Given the description of an element on the screen output the (x, y) to click on. 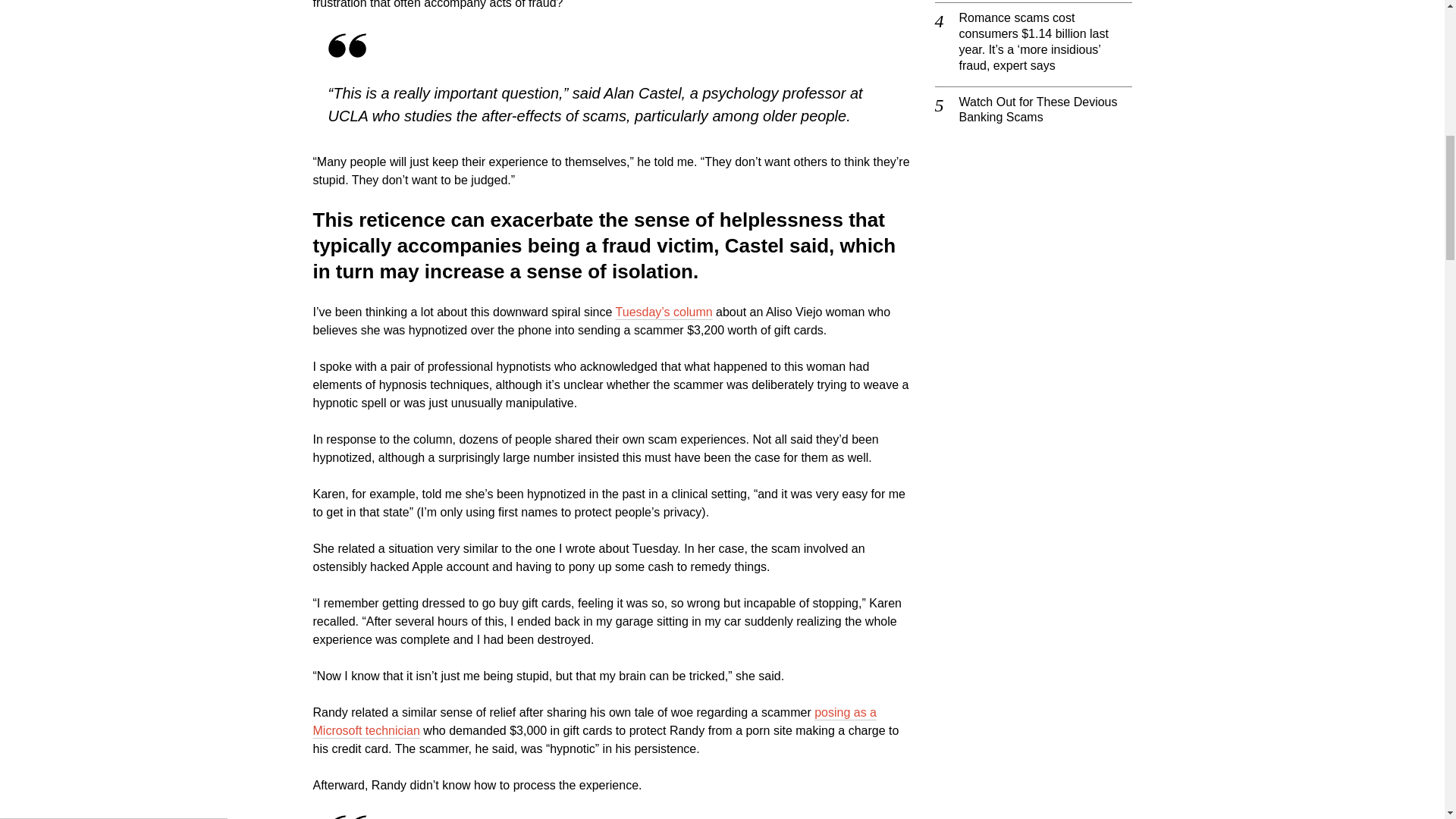
posing as a Microsoft technician (594, 721)
